Given the description of an element on the screen output the (x, y) to click on. 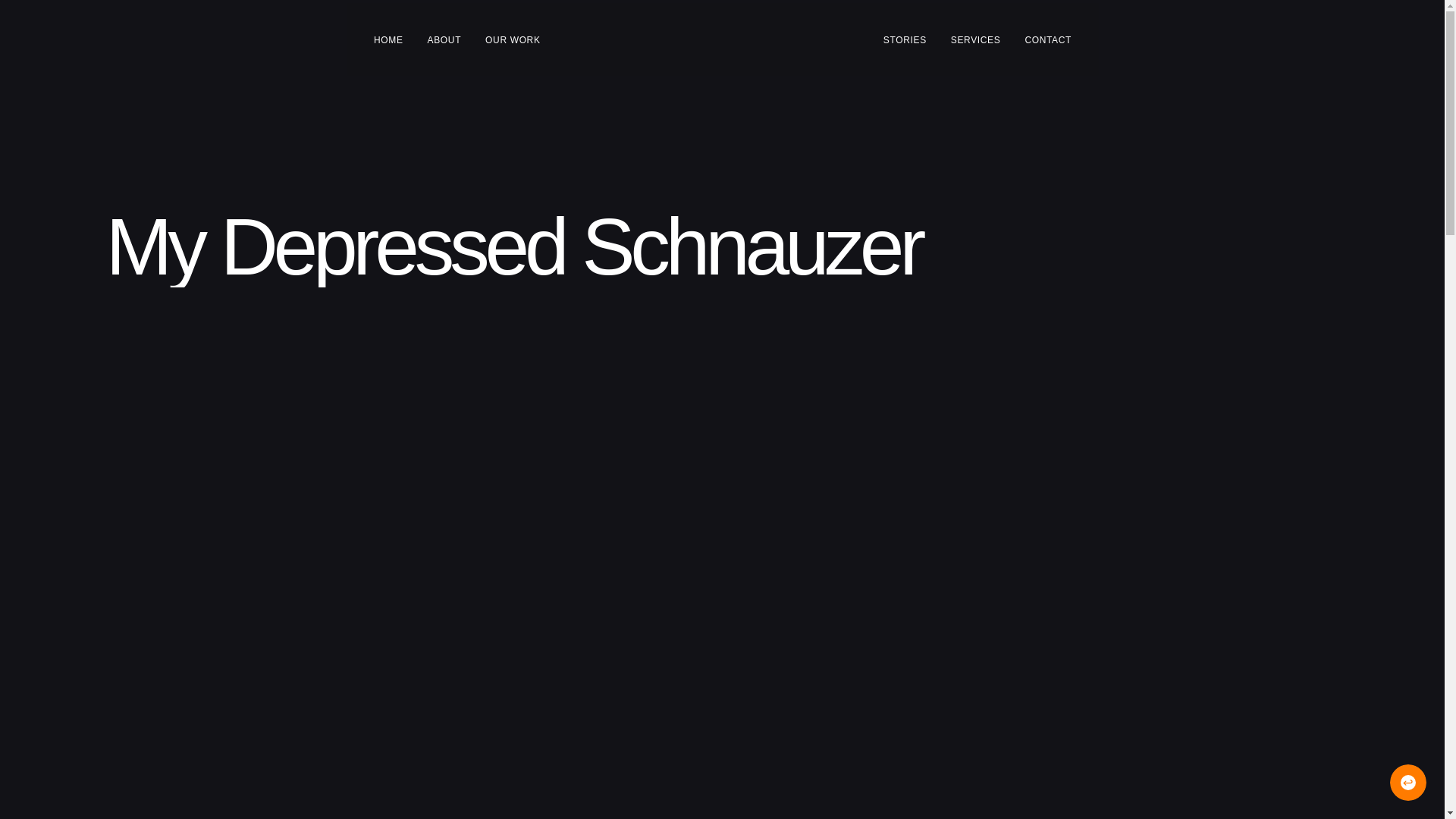
HOME Element type: text (387, 39)
SERVICES Element type: text (975, 39)
ABOUT Element type: text (443, 39)
STORIES Element type: text (903, 39)
OUR WORK Element type: text (512, 39)
CONTACT Element type: text (1047, 39)
